Given the description of an element on the screen output the (x, y) to click on. 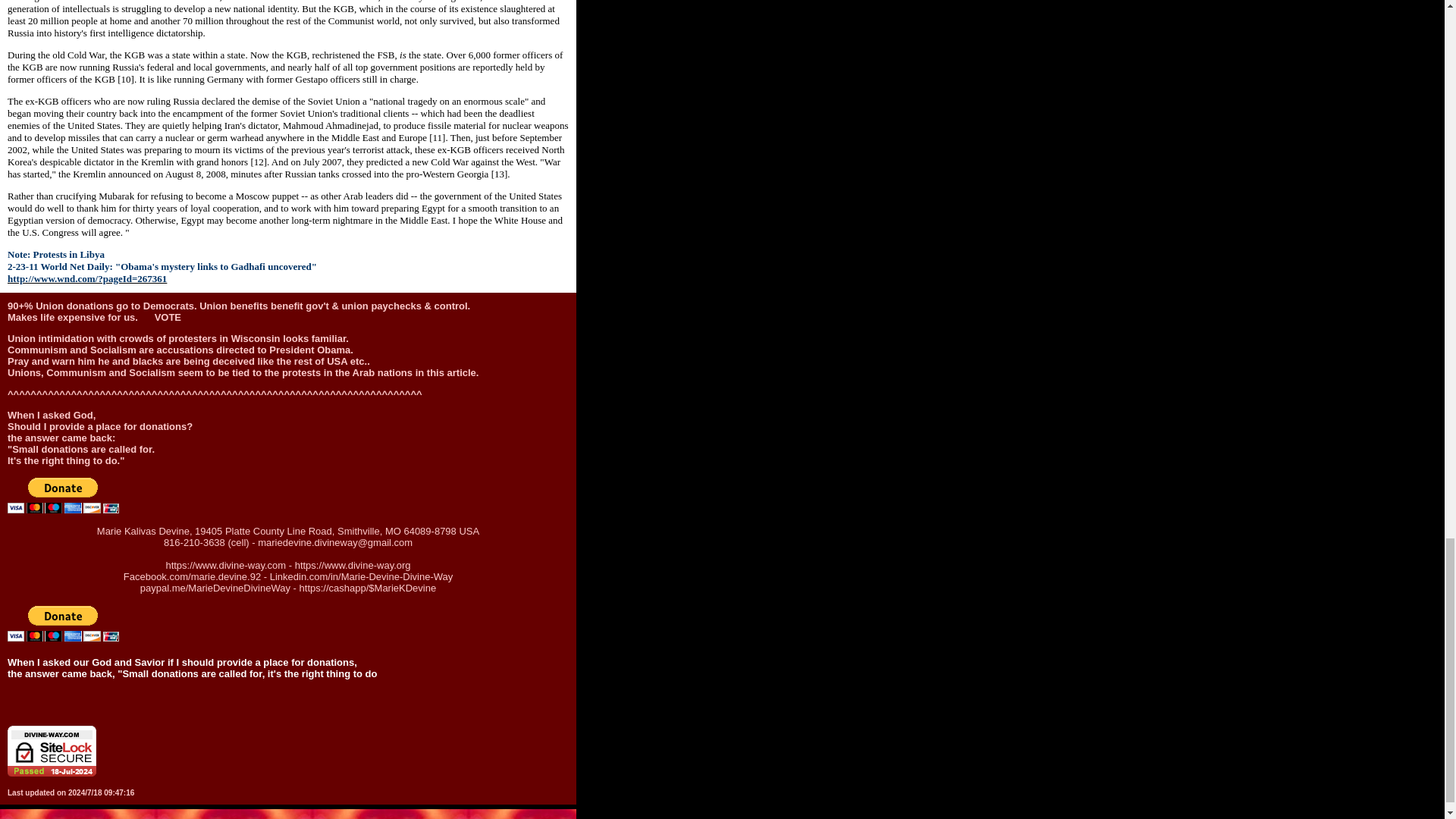
SiteLock (51, 750)
